Given the description of an element on the screen output the (x, y) to click on. 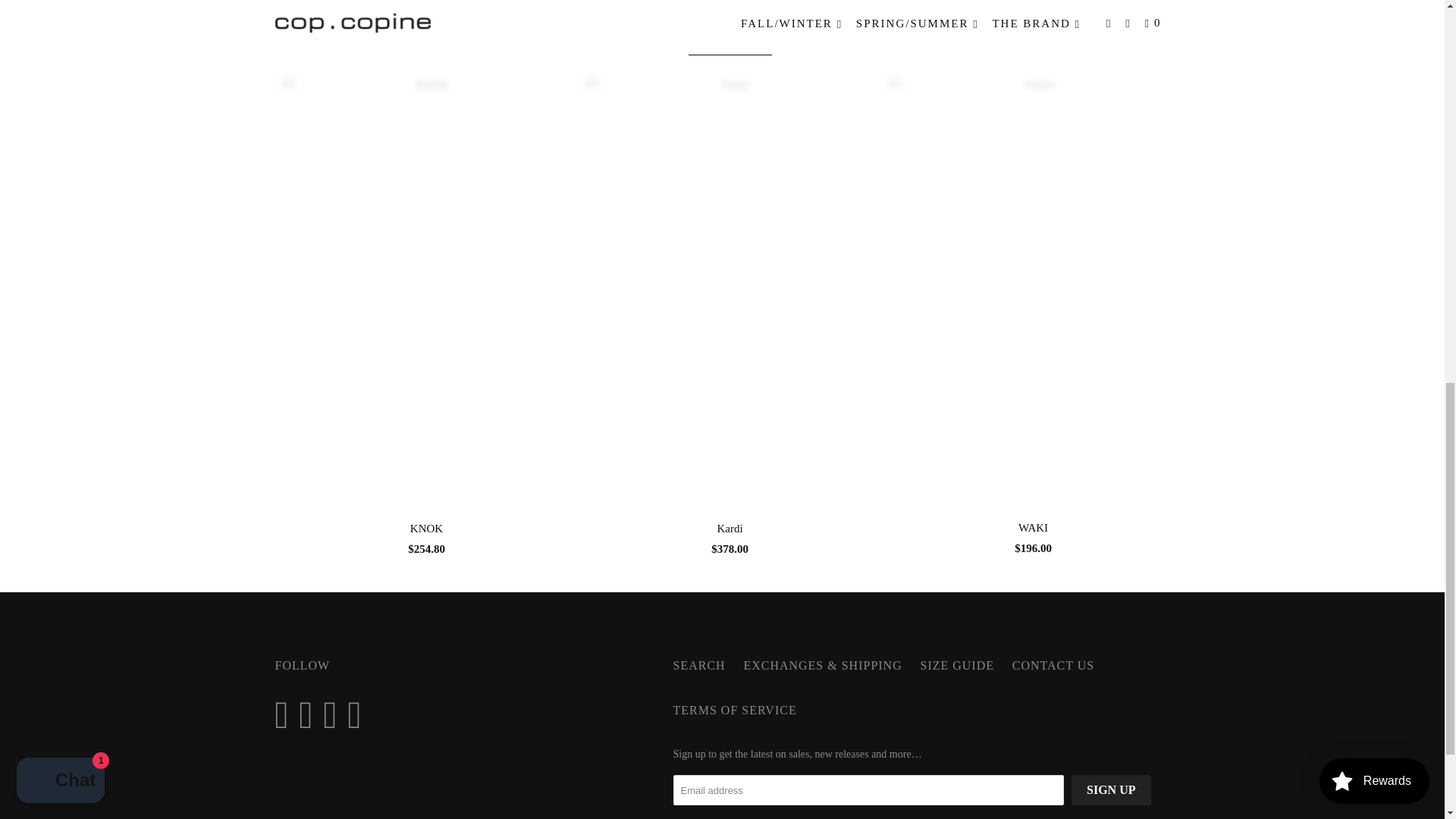
Sign Up (1110, 789)
